Given the description of an element on the screen output the (x, y) to click on. 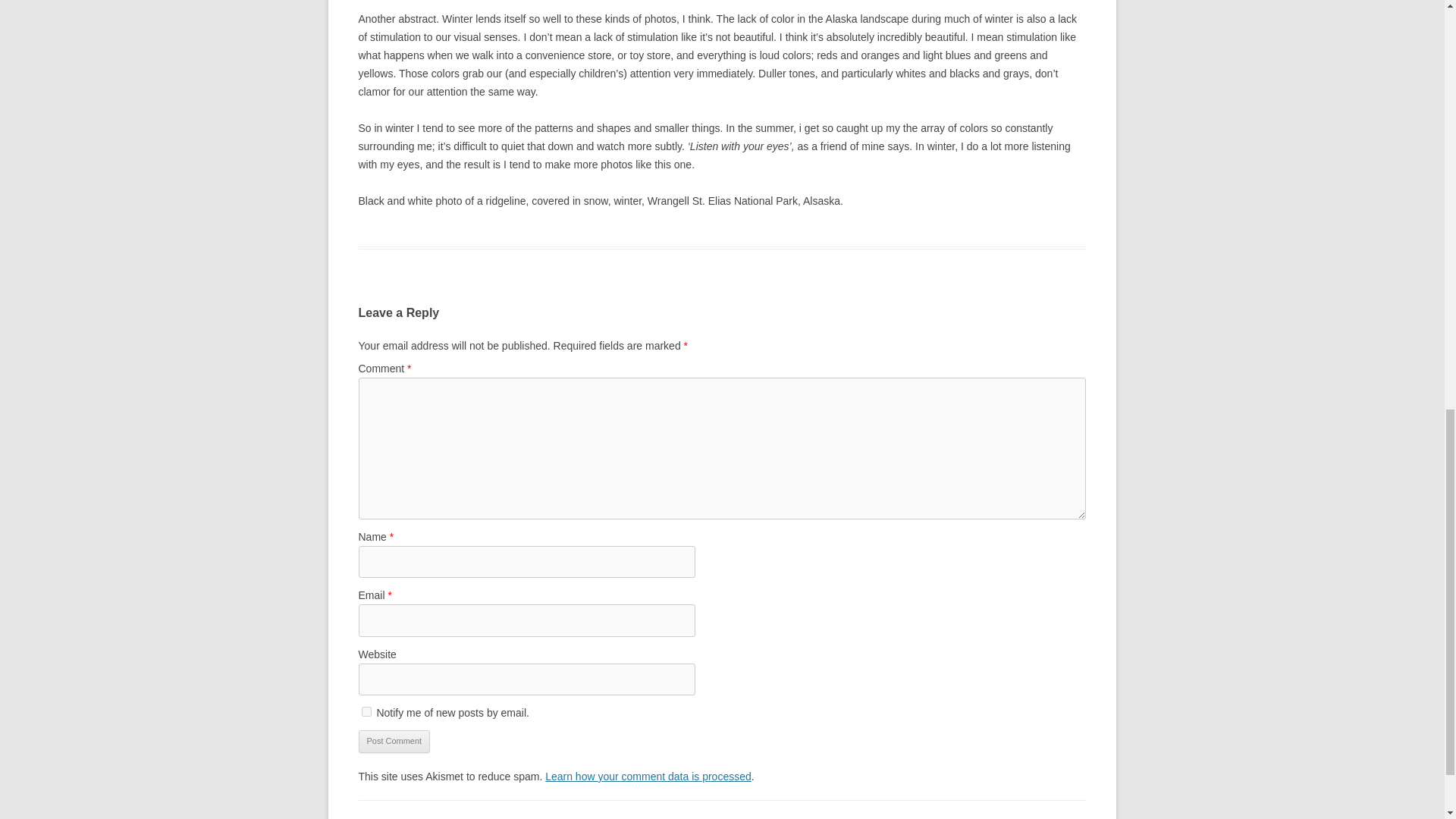
Post Comment (393, 741)
Learn how your comment data is processed (647, 776)
subscribe (366, 711)
Post Comment (393, 741)
